Given the description of an element on the screen output the (x, y) to click on. 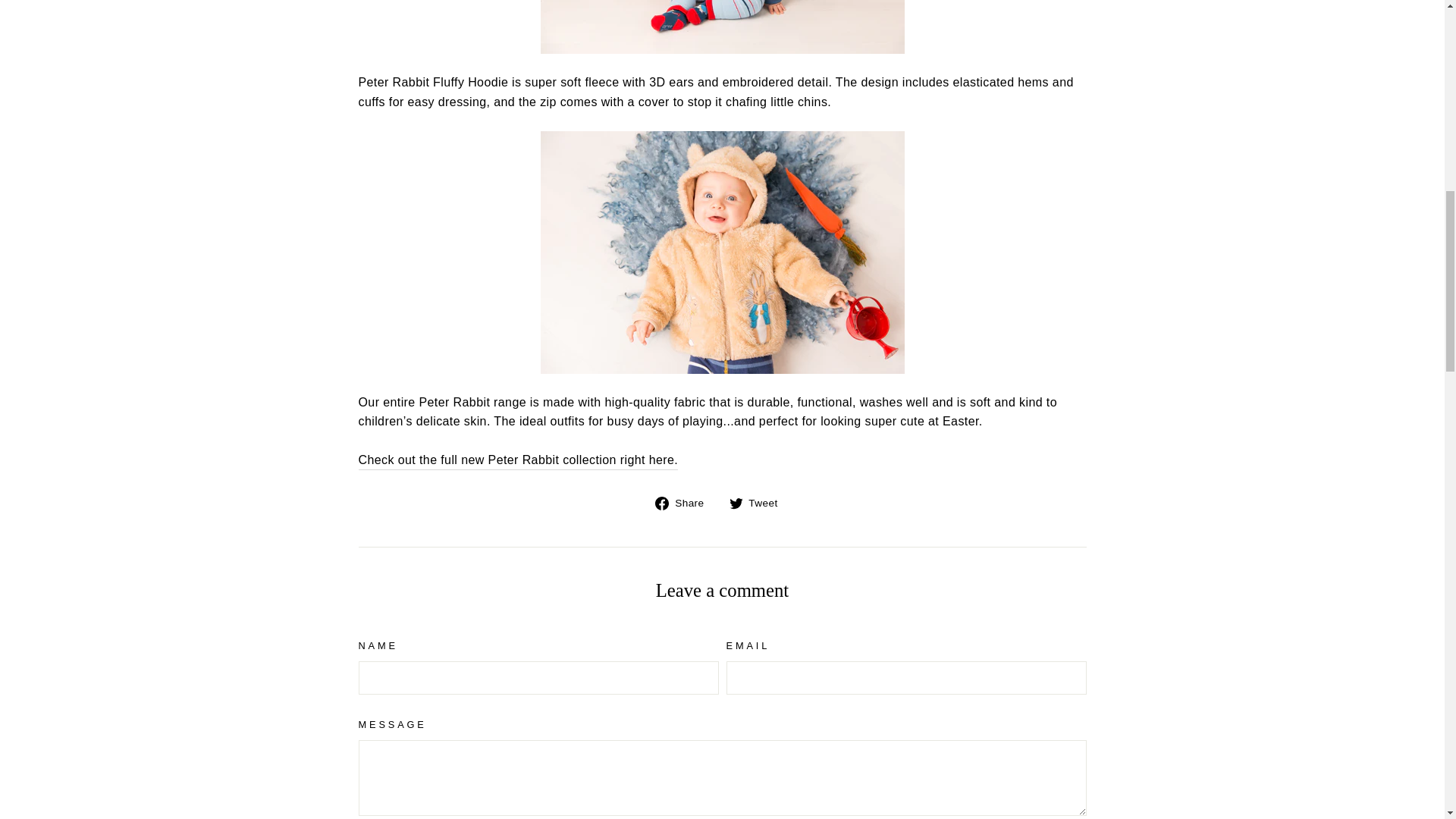
Tweet on Twitter (759, 502)
Share on Facebook (684, 502)
twitter (735, 503)
